Given the description of an element on the screen output the (x, y) to click on. 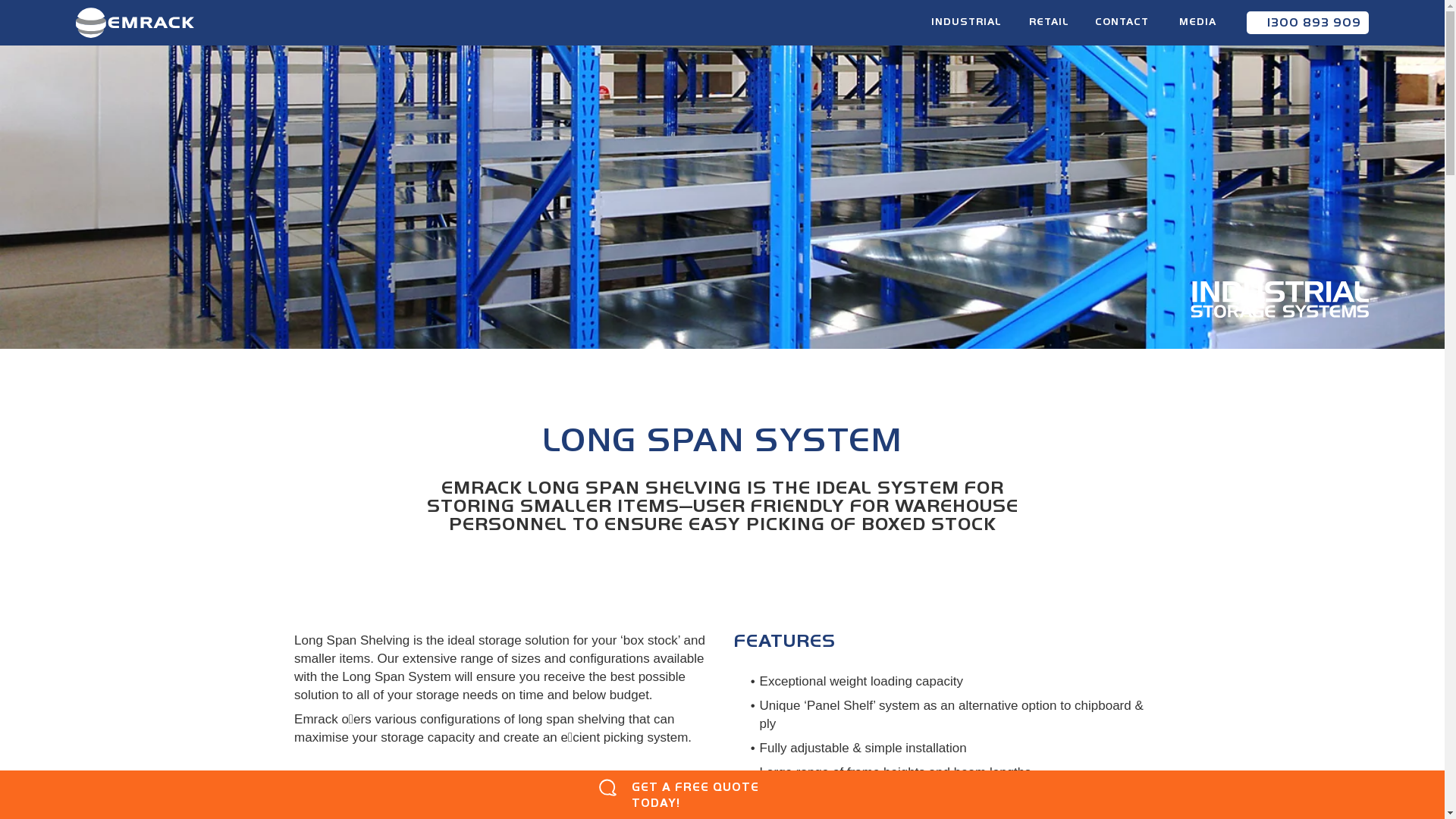
1300 893 909 Element type: text (1307, 22)
MEDIA Element type: text (1197, 21)
Industrial Storage Systems Element type: hover (1279, 299)
Emrack International Element type: hover (134, 22)
RETAIL Element type: text (1048, 26)
INDUSTRIAL Element type: text (965, 26)
Call Us Toll Free Element type: hover (1259, 22)
CONTACT Element type: text (1121, 21)
